Given the description of an element on the screen output the (x, y) to click on. 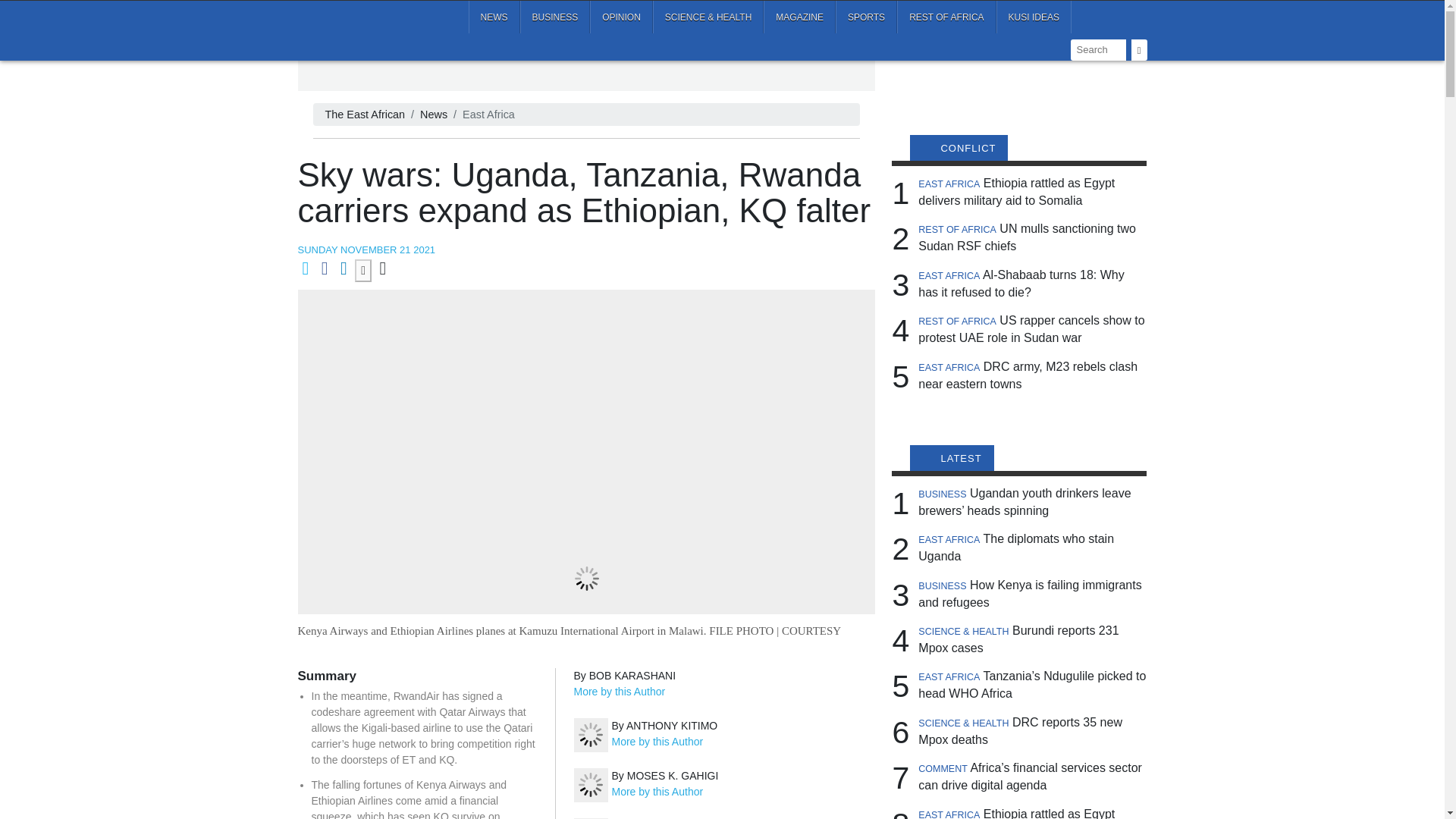
MAGAZINE (798, 16)
NEWS (493, 16)
OPINION (620, 16)
BUSINESS (555, 16)
SPORTS (865, 16)
